Given the description of an element on the screen output the (x, y) to click on. 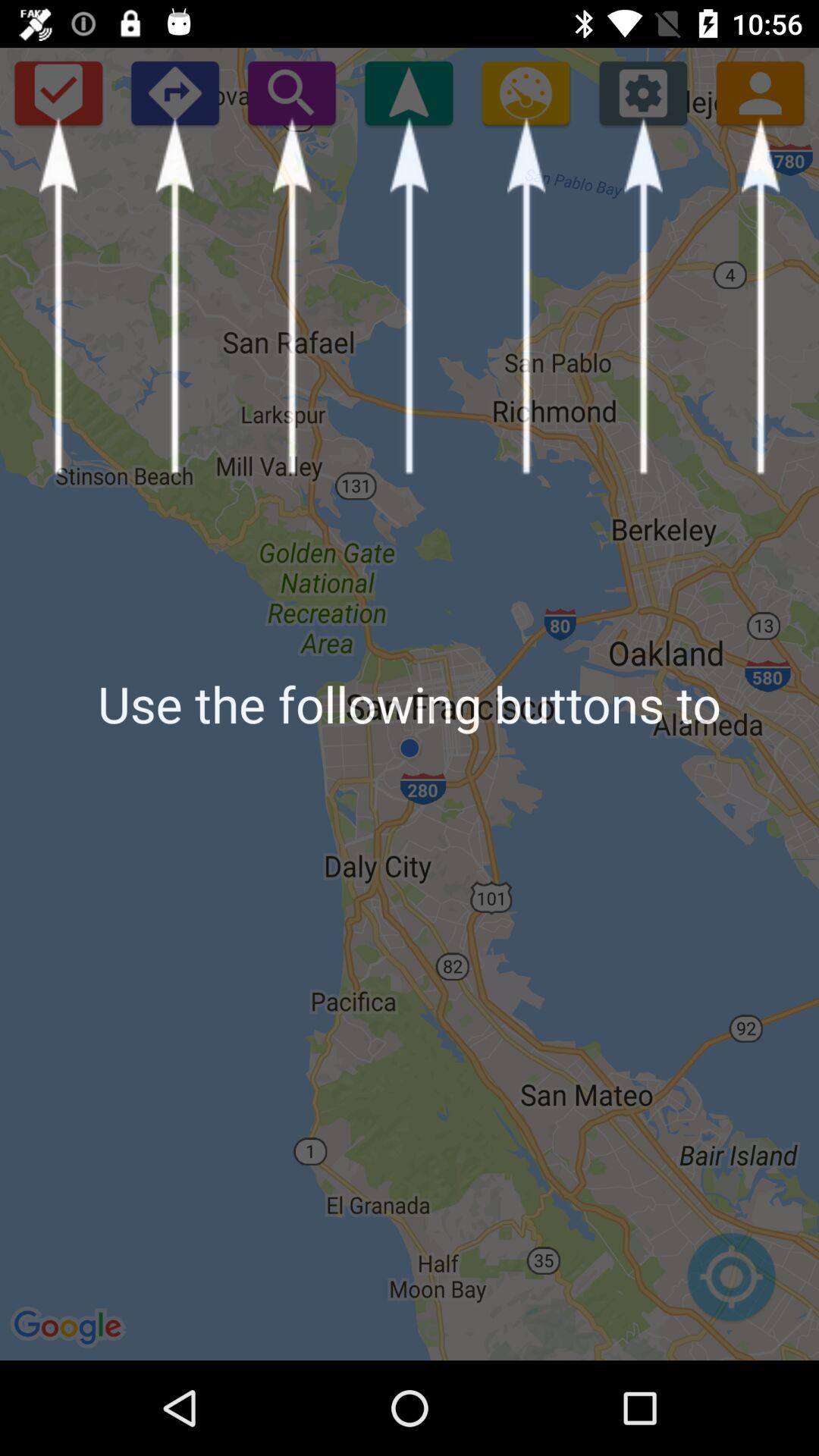
show my location (408, 92)
